Given the description of an element on the screen output the (x, y) to click on. 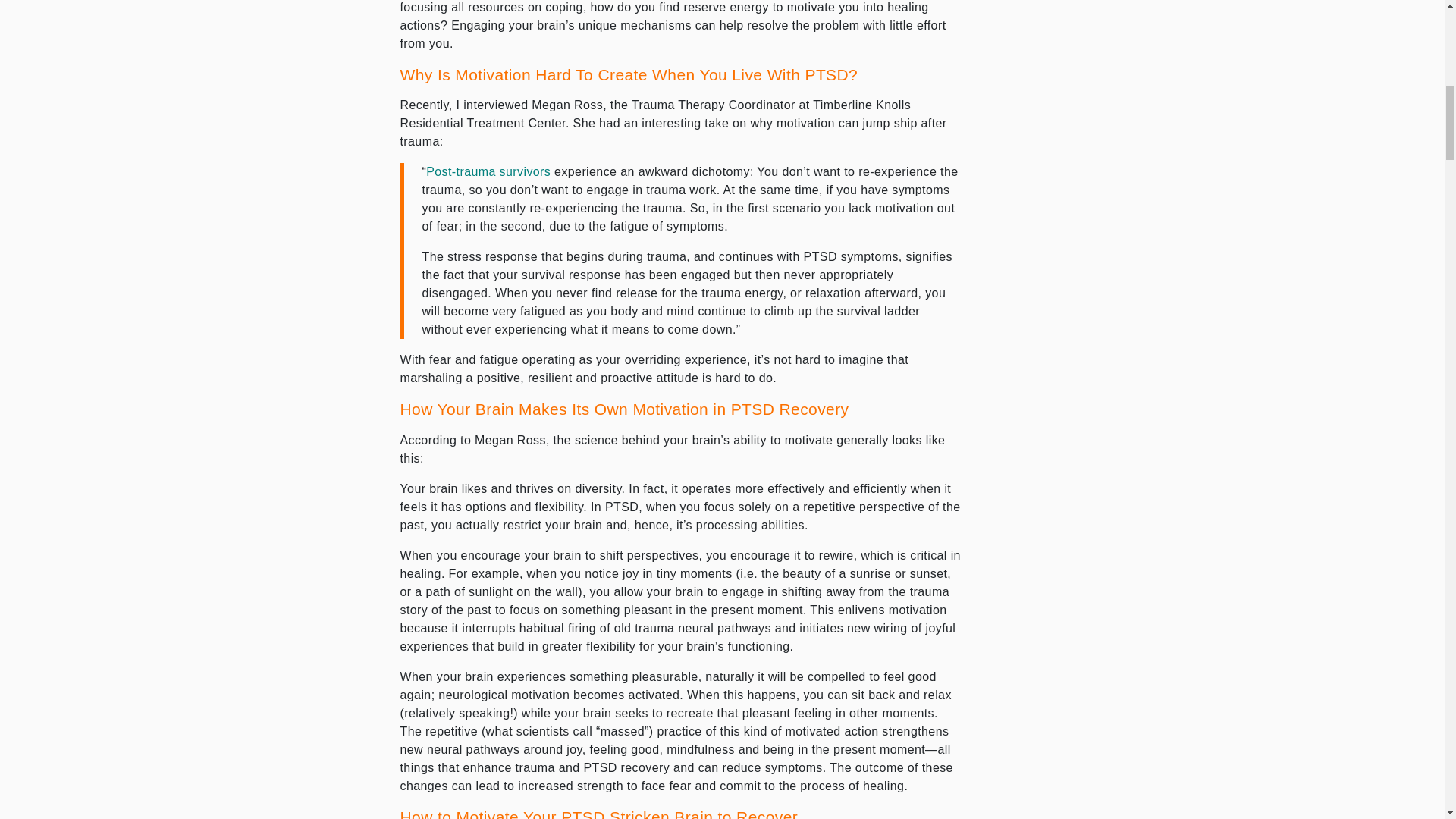
Disclosing PTSD: Yes, I'm A PTSD Survivor (488, 171)
